Given the description of an element on the screen output the (x, y) to click on. 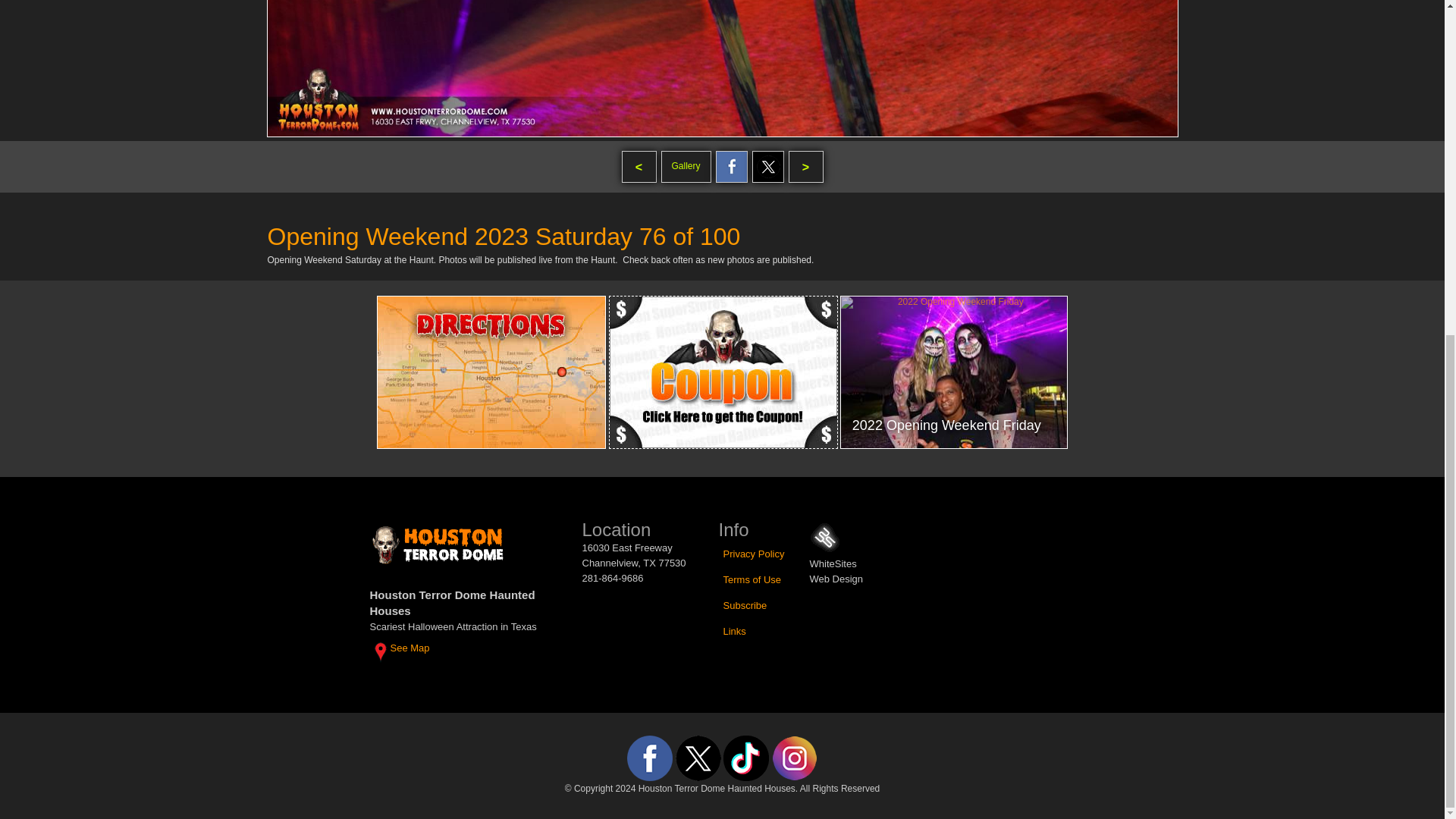
Subscribe (745, 605)
Share on Facebook (732, 166)
Privacy Policy (754, 554)
Terms of Use (752, 580)
Gallery (686, 166)
WhiteSites Web Design (824, 537)
See Map (401, 651)
Share on Twitter (768, 166)
Links (735, 631)
